Given the description of an element on the screen output the (x, y) to click on. 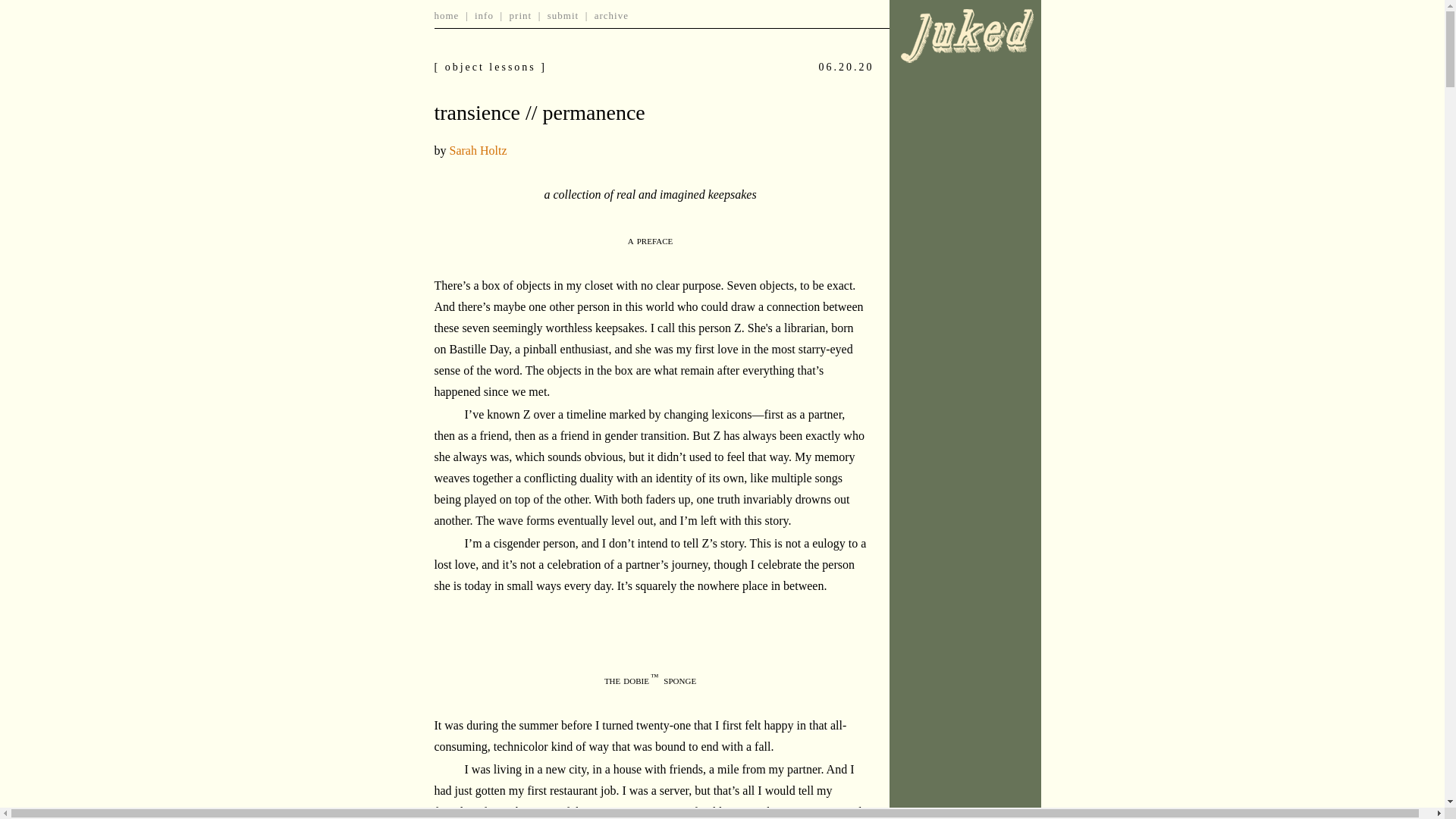
archive (611, 15)
info (483, 15)
submit (562, 15)
print (520, 15)
home (445, 15)
Sarah Holtz (477, 150)
